Given the description of an element on the screen output the (x, y) to click on. 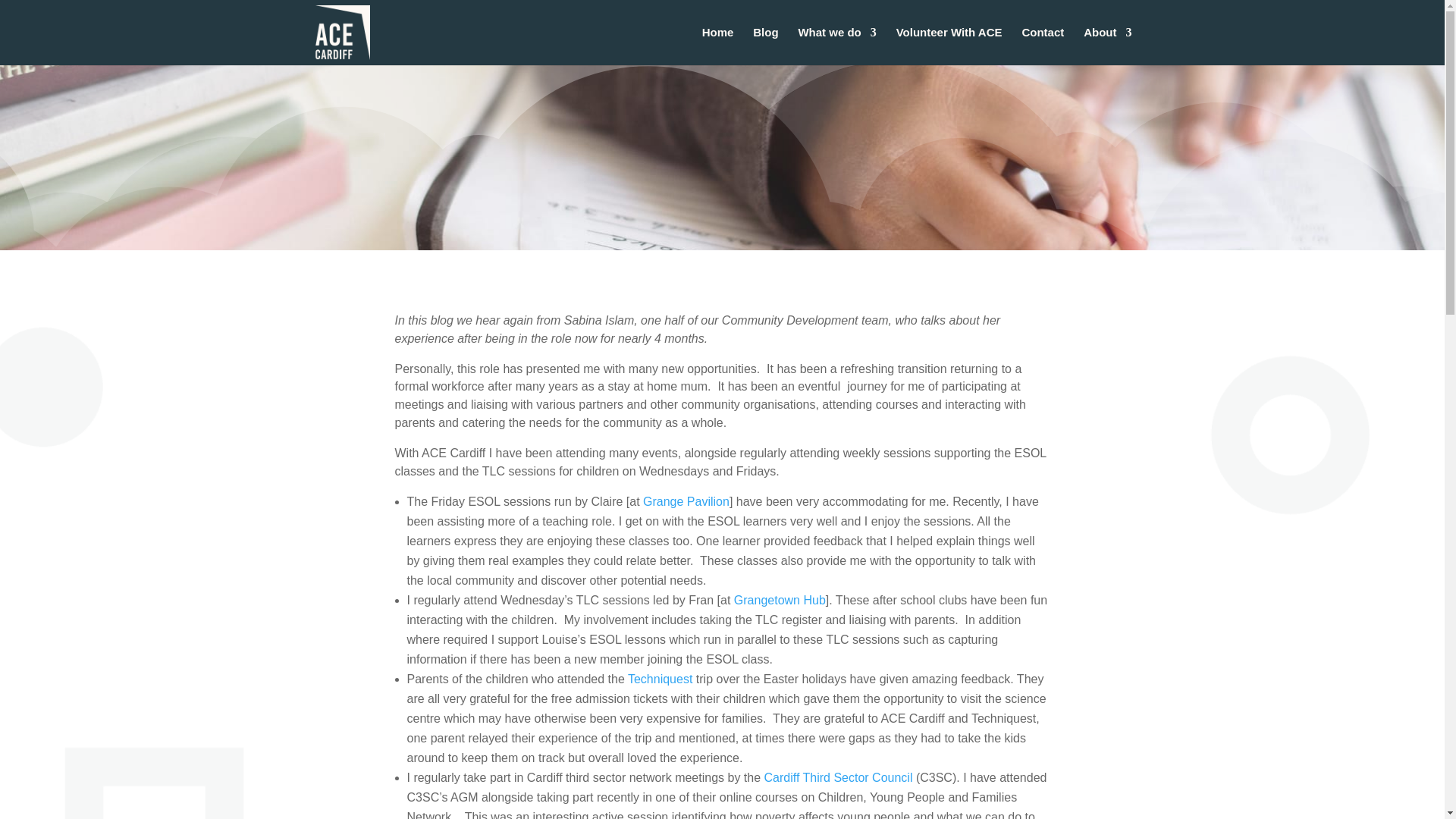
Techniquest (660, 678)
Grange Pavilion (686, 501)
What we do (836, 46)
Contact (1043, 46)
About (1107, 46)
Volunteer With ACE (949, 46)
Cardiff Third Sector Council (838, 777)
Grangetown Hub (779, 599)
